Given the description of an element on the screen output the (x, y) to click on. 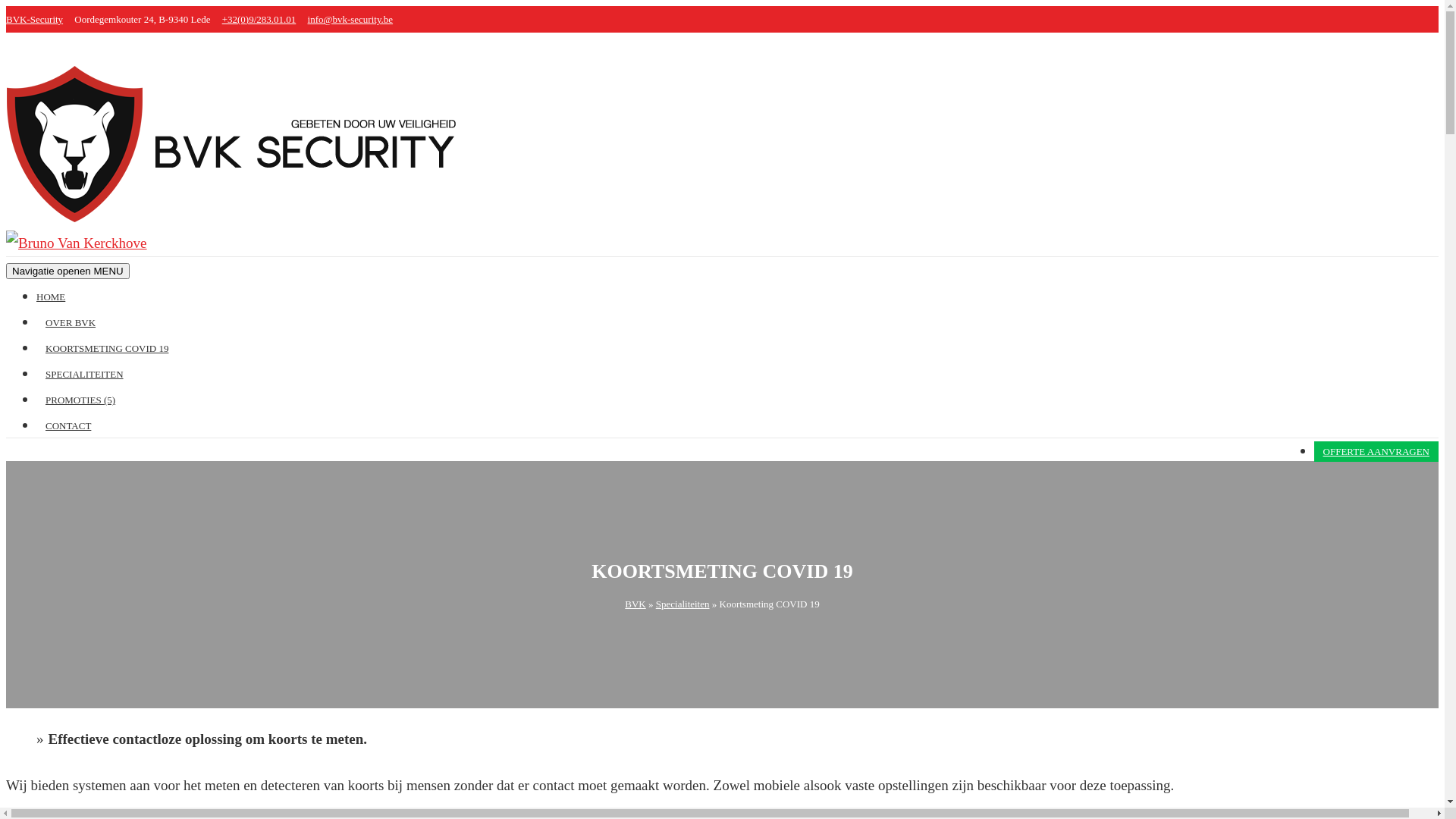
BVK Element type: text (634, 603)
+32(0)9/283.01.01 Element type: text (259, 19)
BVK-Security Element type: text (34, 19)
OFFERTE AANVRAGEN Element type: text (1376, 451)
CONTACT Element type: text (68, 425)
BVK-Security Wetteren contacteren Element type: hover (84, 243)
HOME Element type: text (55, 296)
KOORTSMETING COVID 19 Element type: text (106, 348)
PROMOTIES (5) Element type: text (80, 399)
Specialiteiten Element type: text (682, 603)
SPECIALITEITEN Element type: text (84, 374)
Navigatie openen MENU Element type: text (67, 271)
OVER BVK Element type: text (70, 322)
BVK-Security Beveiligingsfirma Wetteren Element type: hover (239, 217)
info@bvk-security.be Element type: text (350, 19)
